Given the description of an element on the screen output the (x, y) to click on. 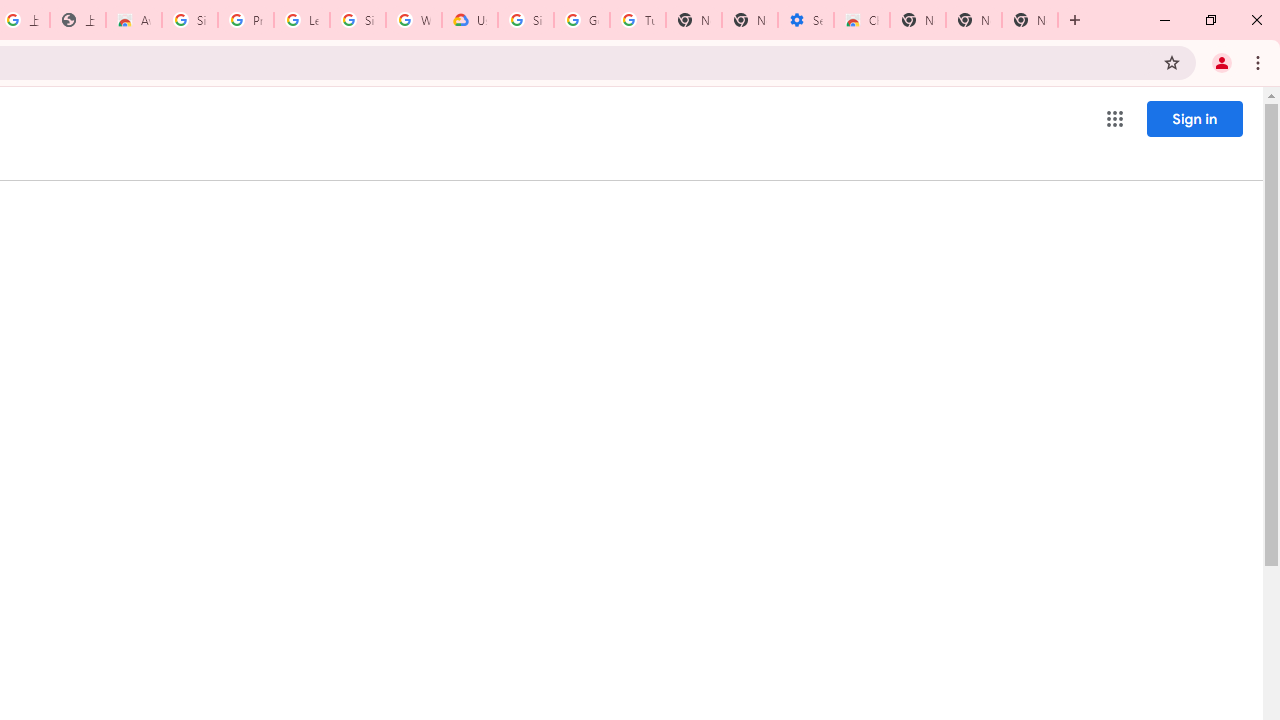
Google Account Help (582, 20)
New Tab (1030, 20)
Sign in - Google Accounts (189, 20)
